Given the description of an element on the screen output the (x, y) to click on. 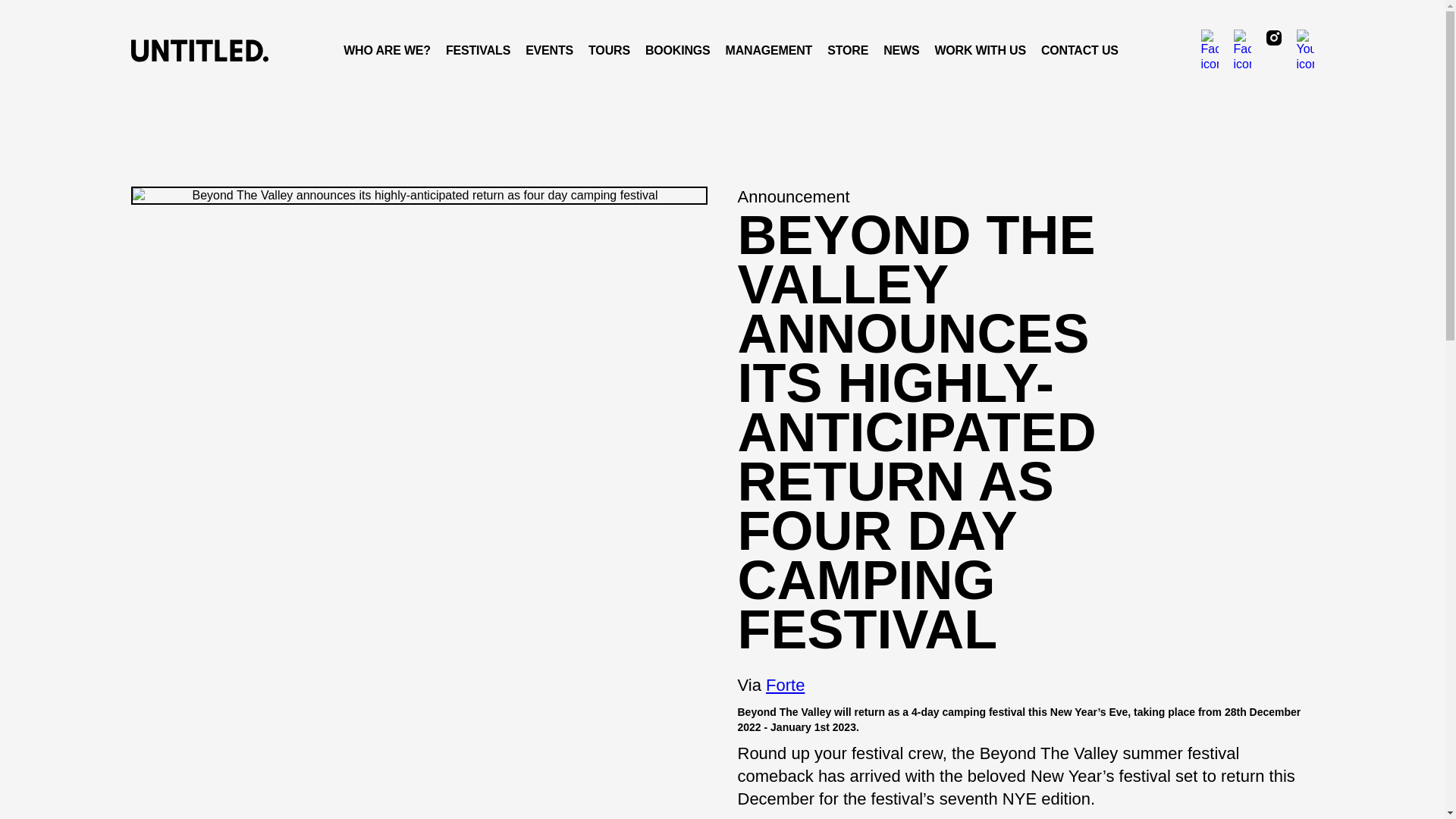
WORK WITH US (979, 50)
NEWS (901, 50)
BOOKINGS (677, 50)
Forte (785, 684)
STORE (847, 50)
CONTACT US (1079, 50)
TOURS (608, 50)
WHO ARE WE? (387, 50)
FESTIVALS (478, 50)
MANAGEMENT (769, 50)
